Given the description of an element on the screen output the (x, y) to click on. 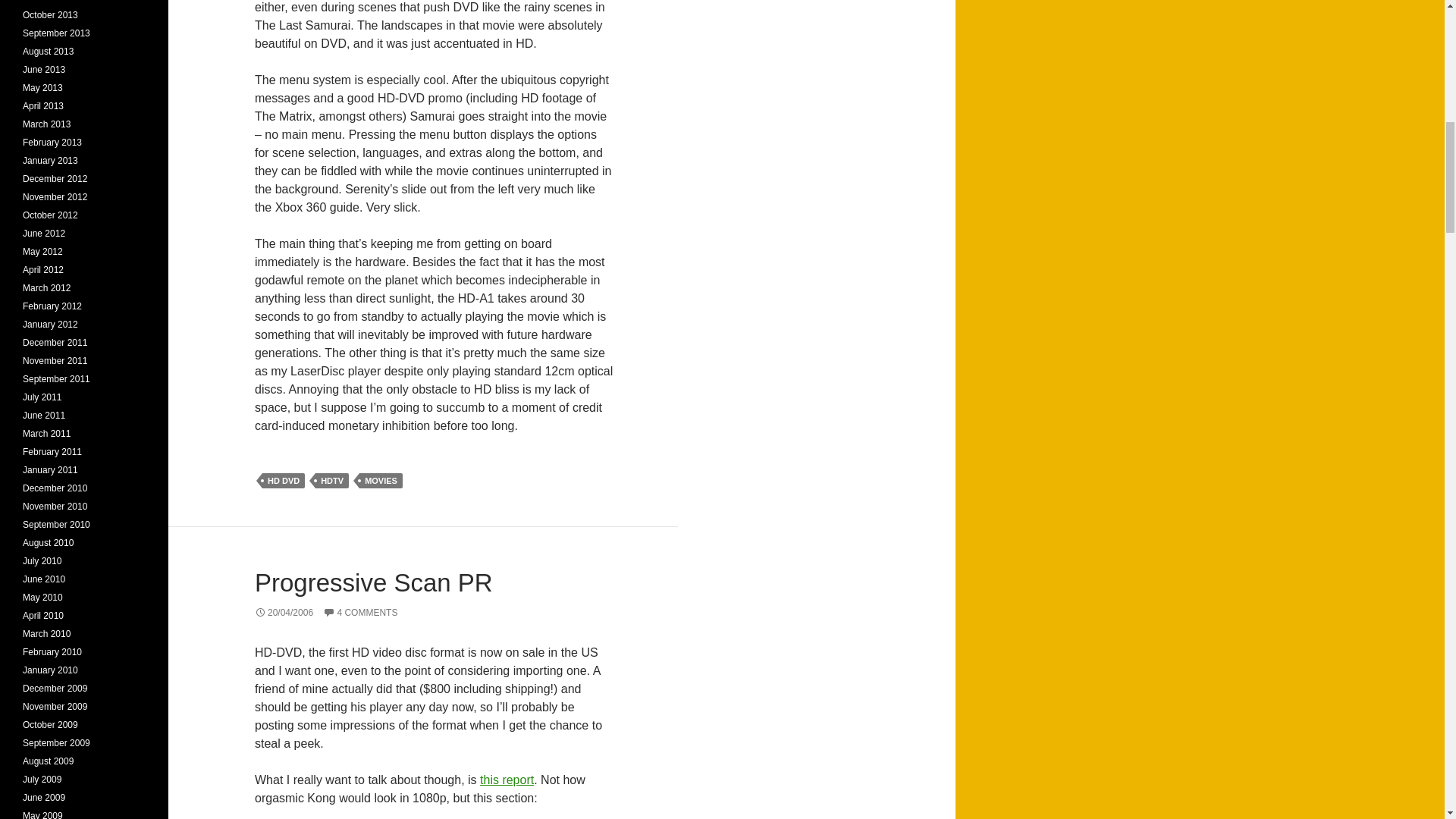
HD DVD (283, 480)
4 COMMENTS (360, 612)
Progressive Scan PR (373, 582)
HDTV (332, 480)
this report (507, 779)
MOVIES (381, 480)
